Given the description of an element on the screen output the (x, y) to click on. 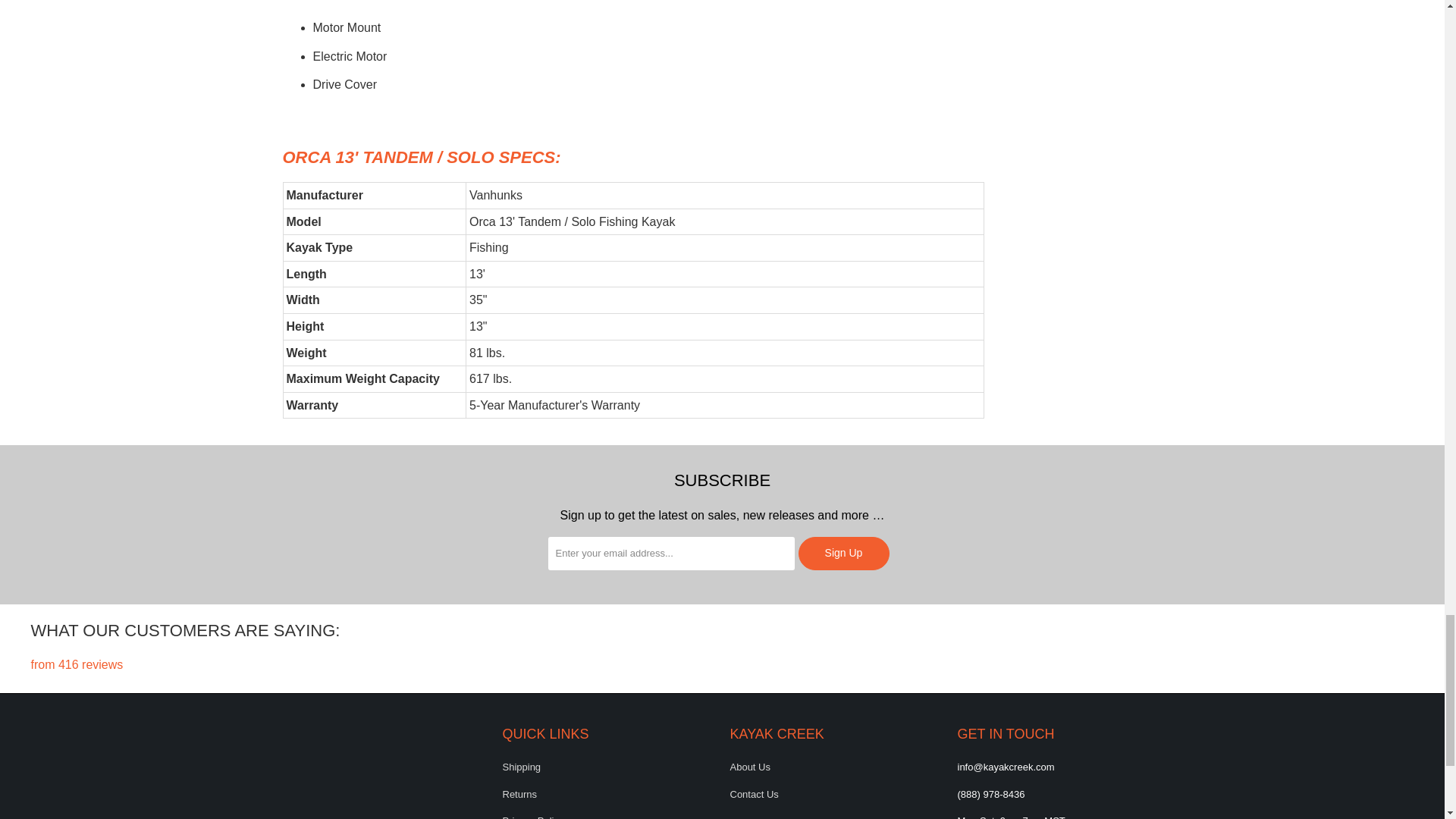
Sign Up (842, 553)
